Given the description of an element on the screen output the (x, y) to click on. 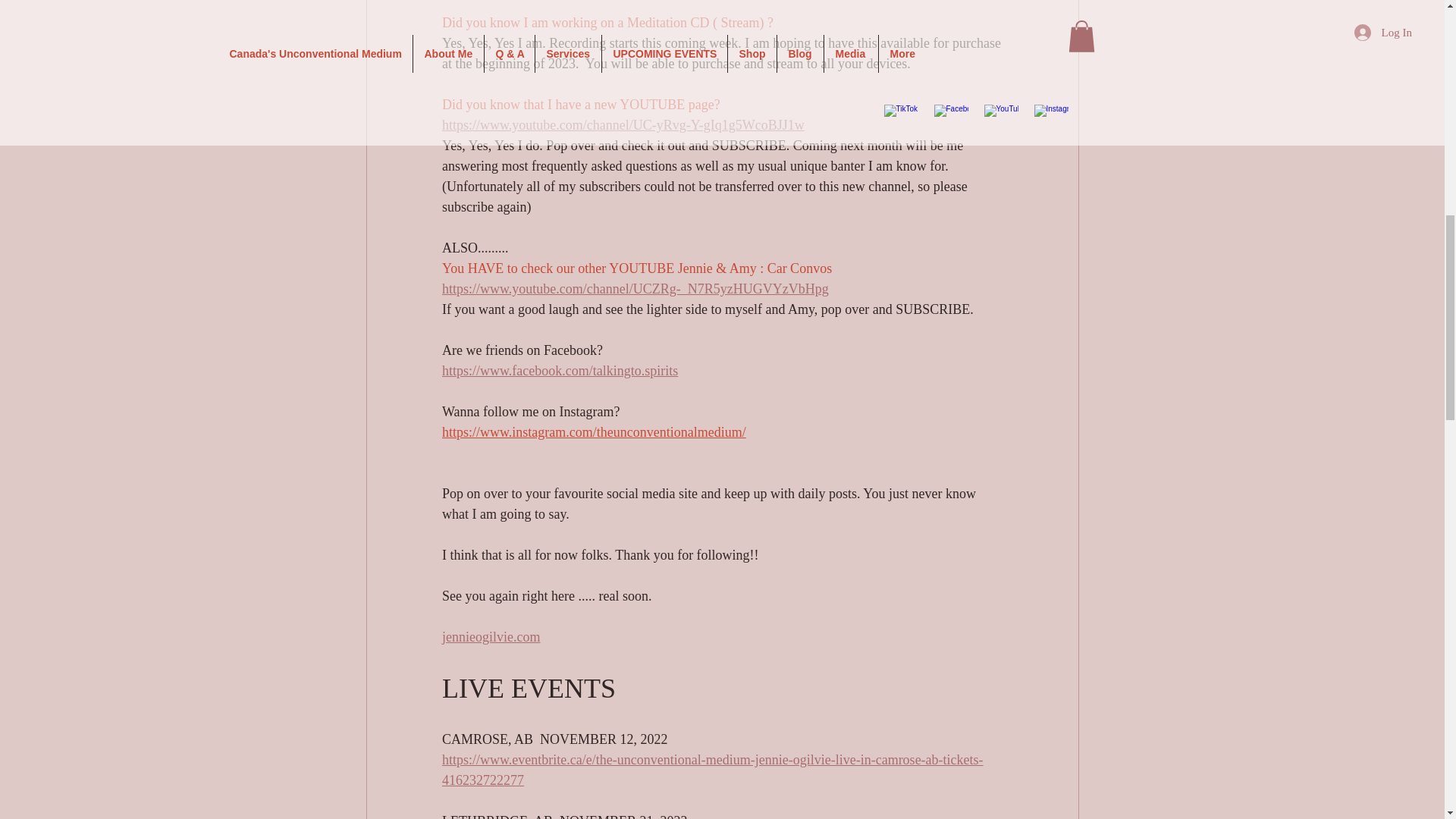
jennieogilvie.com (489, 636)
